Given the description of an element on the screen output the (x, y) to click on. 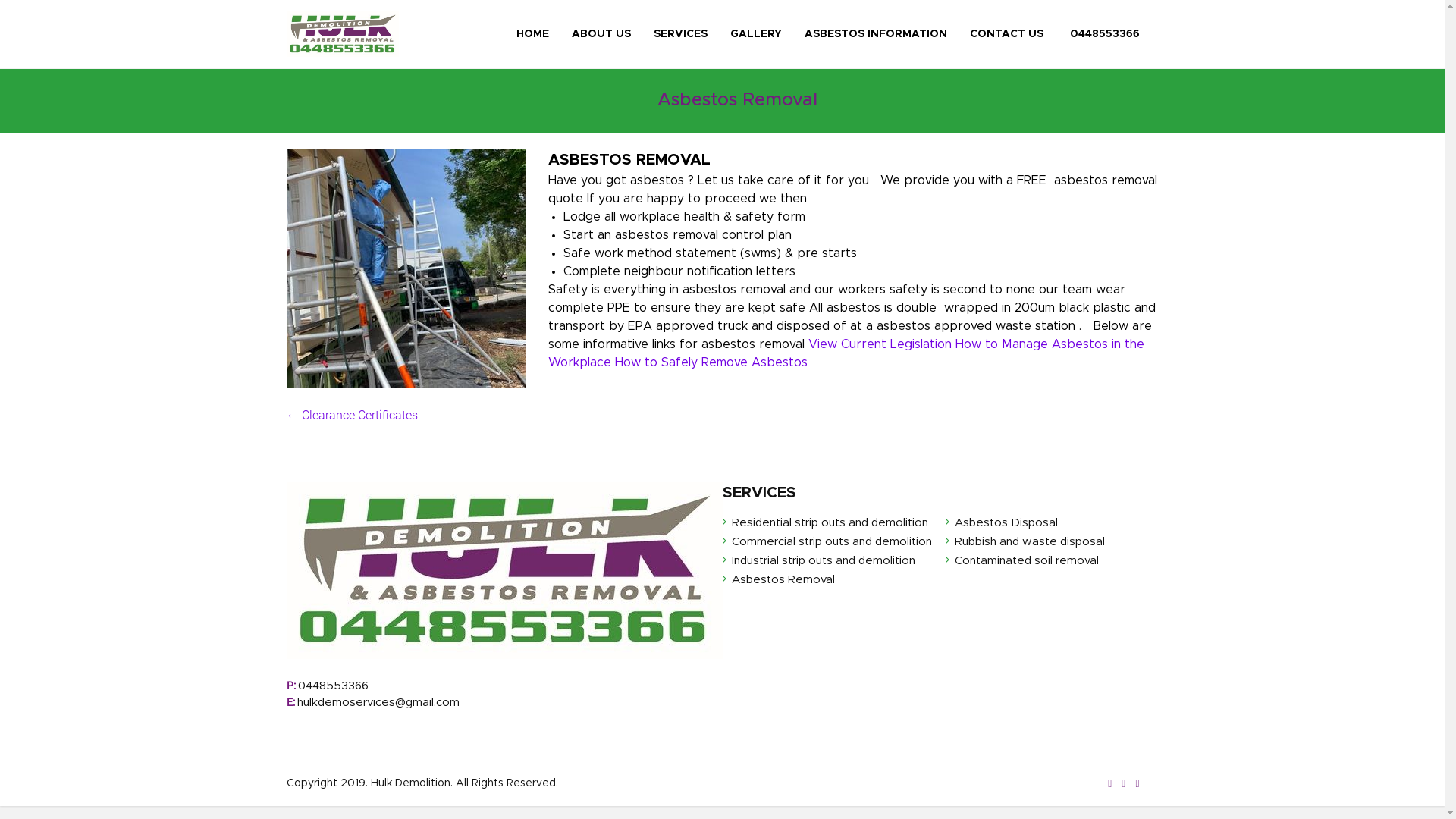
Asbestos Removal Element type: text (782, 580)
0448553366 Element type: text (1102, 33)
Contaminated soil removal Element type: text (1026, 561)
Industrial strip outs and demolition Element type: text (822, 561)
How to Safely Remove Asbestos Element type: text (710, 362)
CONTACT US Element type: text (1005, 33)
ABOUT US Element type: text (600, 33)
HOME Element type: text (531, 33)
ASBESTOS INFORMATION Element type: text (874, 33)
View Current Legislation Element type: text (879, 344)
SERVICES Element type: text (680, 33)
Asbestos Disposal Element type: text (1005, 523)
0448553366 Element type: text (332, 685)
Rubbish and waste disposal Element type: text (1029, 542)
Commercial strip outs and demolition Element type: text (831, 542)
GALLERY Element type: text (755, 33)
Residential strip outs and demolition Element type: text (829, 523)
hulkdemoservices@gmail.com Element type: text (378, 702)
How to Manage Asbestos in the Workplace Element type: text (845, 353)
